Given the description of an element on the screen output the (x, y) to click on. 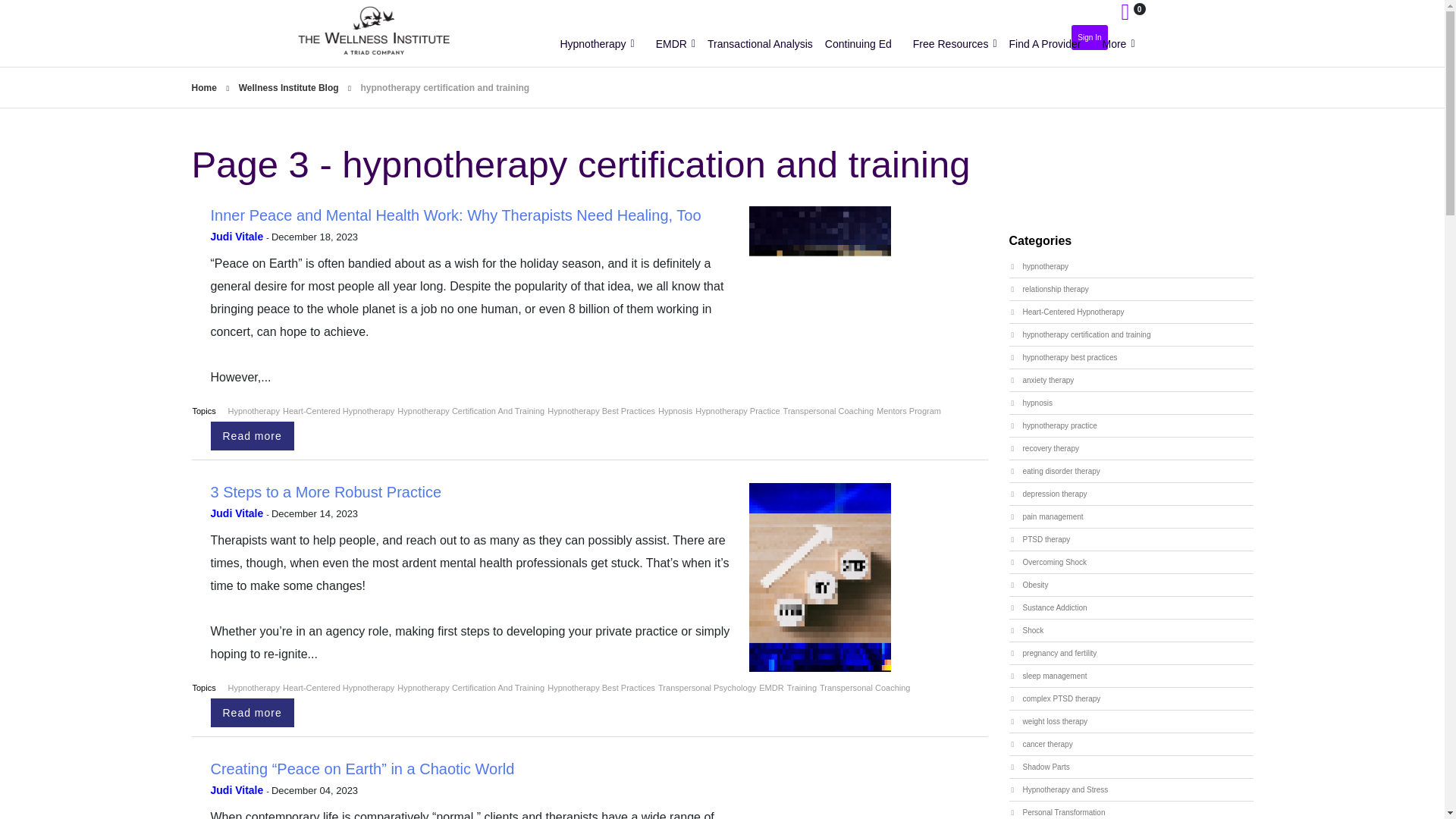
The Wellness Institute (391, 30)
Transactional Analysis (764, 46)
EMDR (675, 46)
Transactional Analysis (764, 46)
Find A Provider (1049, 46)
Continuing Ed (863, 46)
EMDR (675, 46)
Sign In (1088, 37)
More (1117, 46)
Hypnotherapy (596, 46)
